Given the description of an element on the screen output the (x, y) to click on. 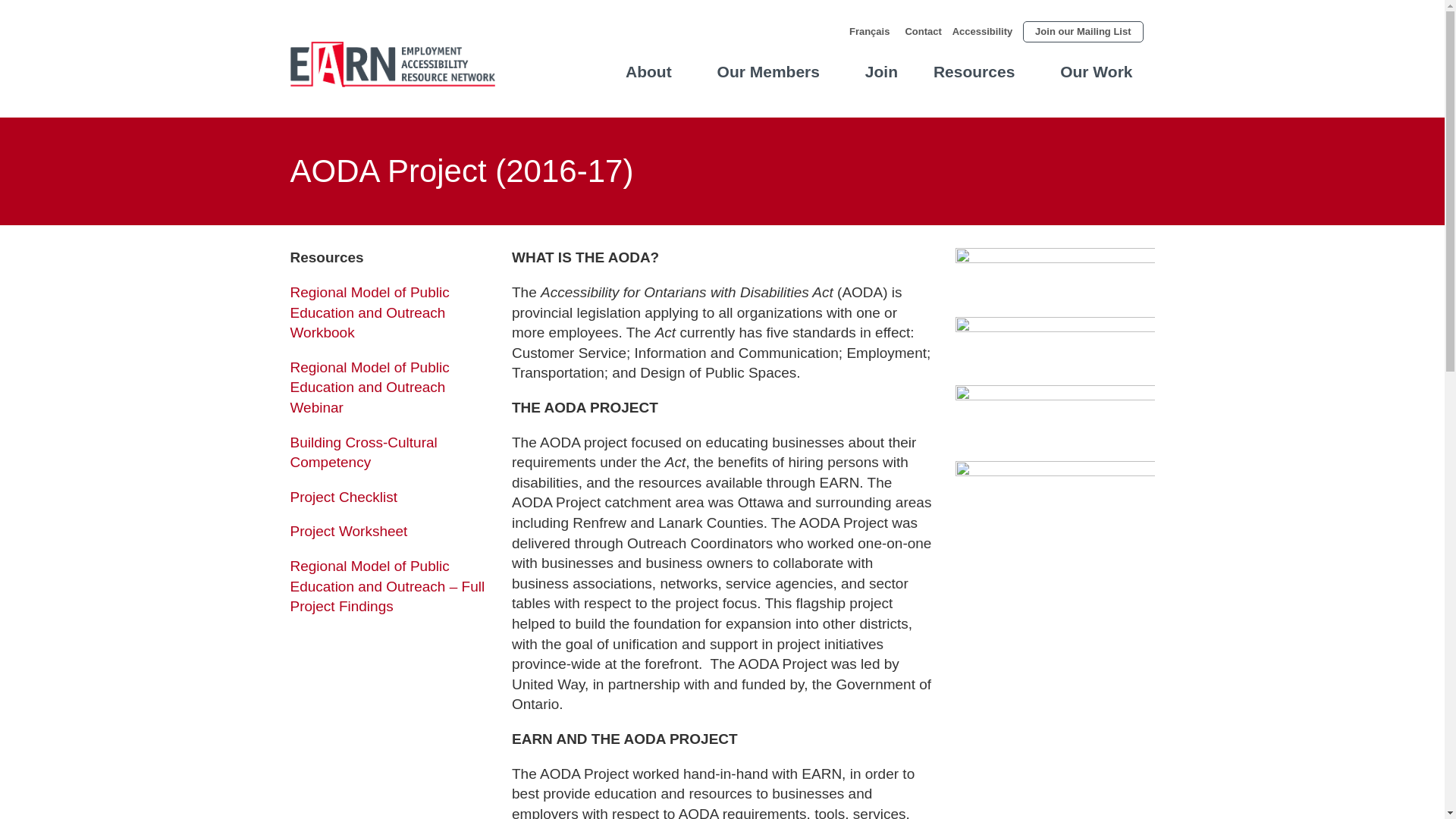
Contact (926, 31)
Join (880, 71)
Join our Mailing List (1082, 31)
Our Work (1095, 71)
Resources (973, 71)
Our Members (768, 71)
Accessibility (986, 31)
Regional Model of Public Education and Outreach Workbook (368, 312)
About (648, 71)
Building Cross-Cultural Competency (362, 452)
Regional Model of Public Education and Outreach Webinar (368, 387)
